Given the description of an element on the screen output the (x, y) to click on. 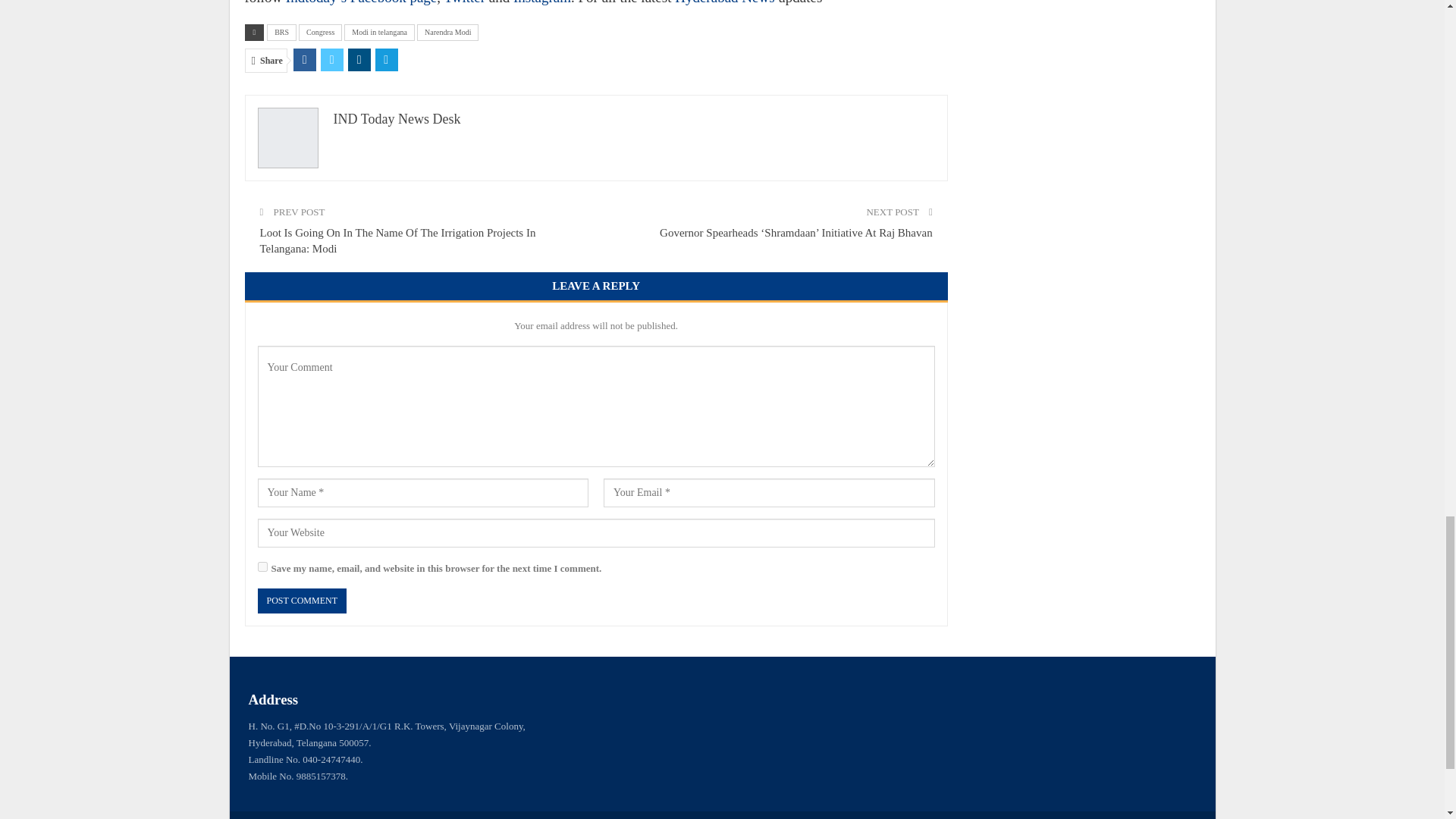
yes (262, 566)
Post Comment (301, 600)
